Given the description of an element on the screen output the (x, y) to click on. 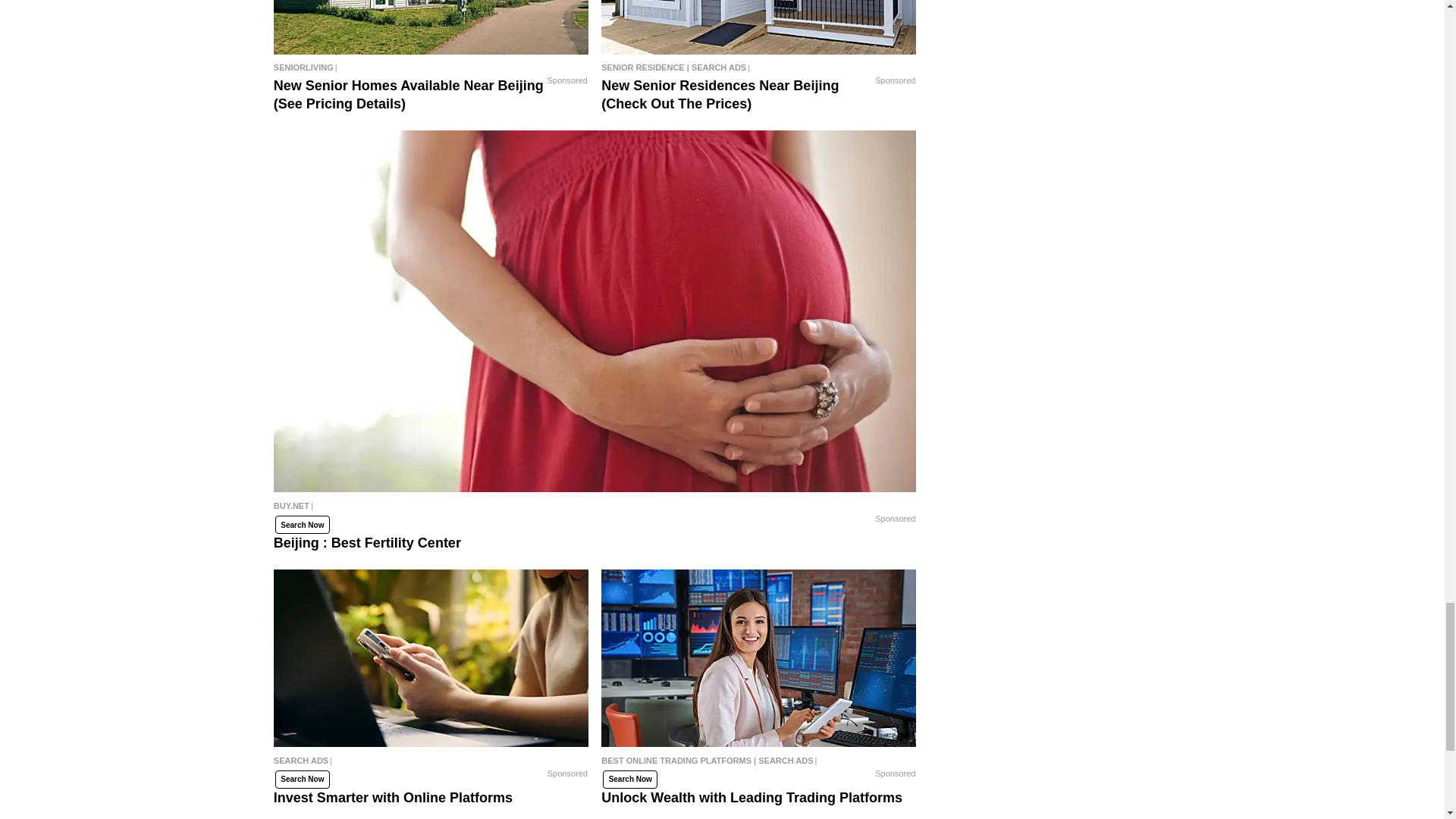
Unlock Wealth with Leading Trading Platforms (758, 657)
Unlock Wealth with Leading Trading Platforms (758, 764)
Sponsored (567, 80)
Invest Smarter with Online Platforms (430, 657)
Invest Smarter with Online Platforms (430, 764)
Beijing : Best Fertility Center (595, 509)
